Given the description of an element on the screen output the (x, y) to click on. 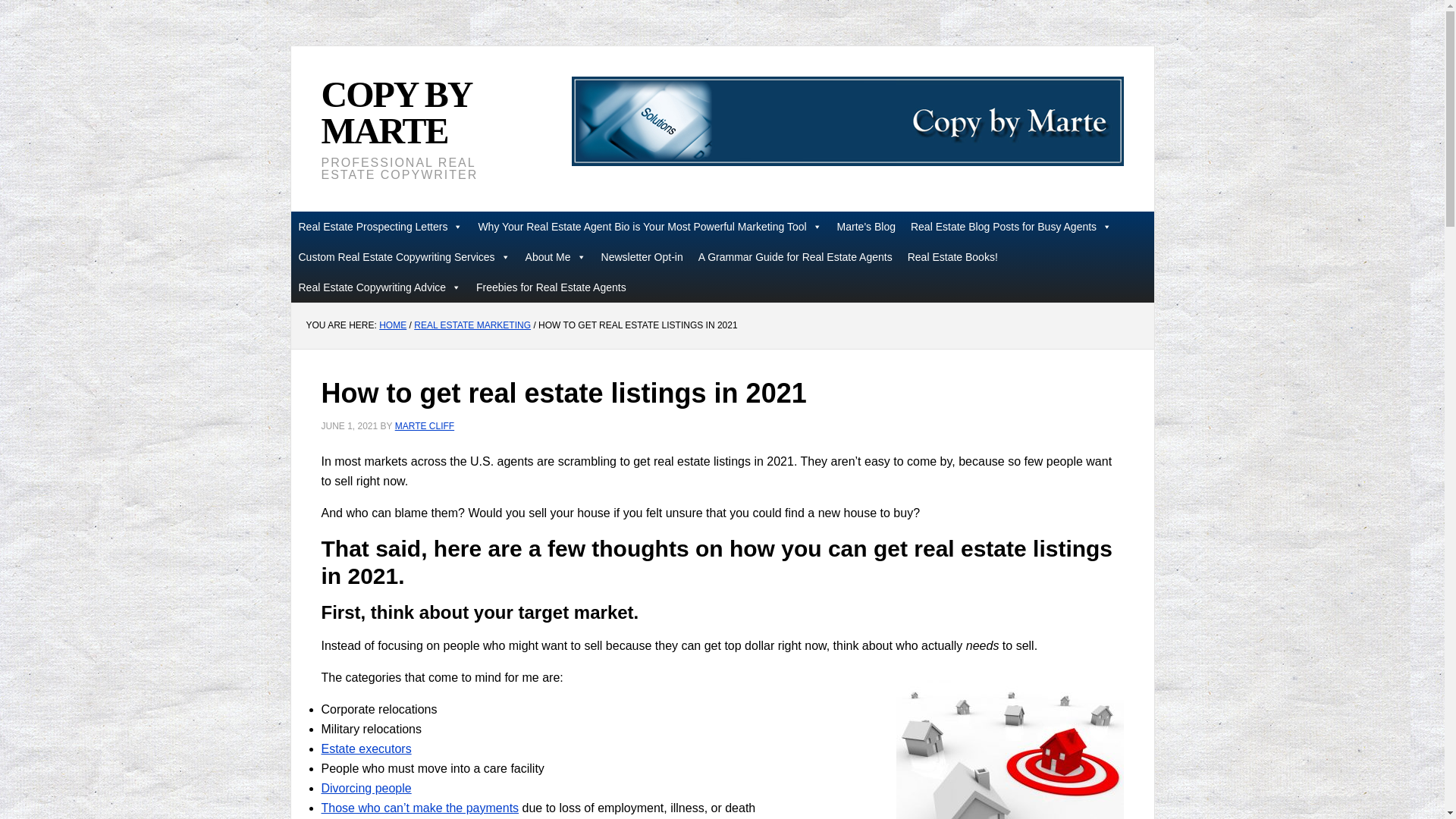
Newsletter Opt-in (642, 256)
CSS Classes (380, 226)
Marte's Blog (865, 226)
Real Estate Copywriting Advice (379, 286)
Real Estate Copyrighting (848, 121)
A Grammar Guide for Real Estate Agents (794, 256)
COPY BY MARTE (395, 112)
Custom Real Estate Copywriting Services (404, 256)
Real Estate Prospecting Letters (380, 226)
Real Estate Books! (952, 256)
About Me (556, 256)
Real Estate Blog Posts for Busy Agents (1010, 226)
